Given the description of an element on the screen output the (x, y) to click on. 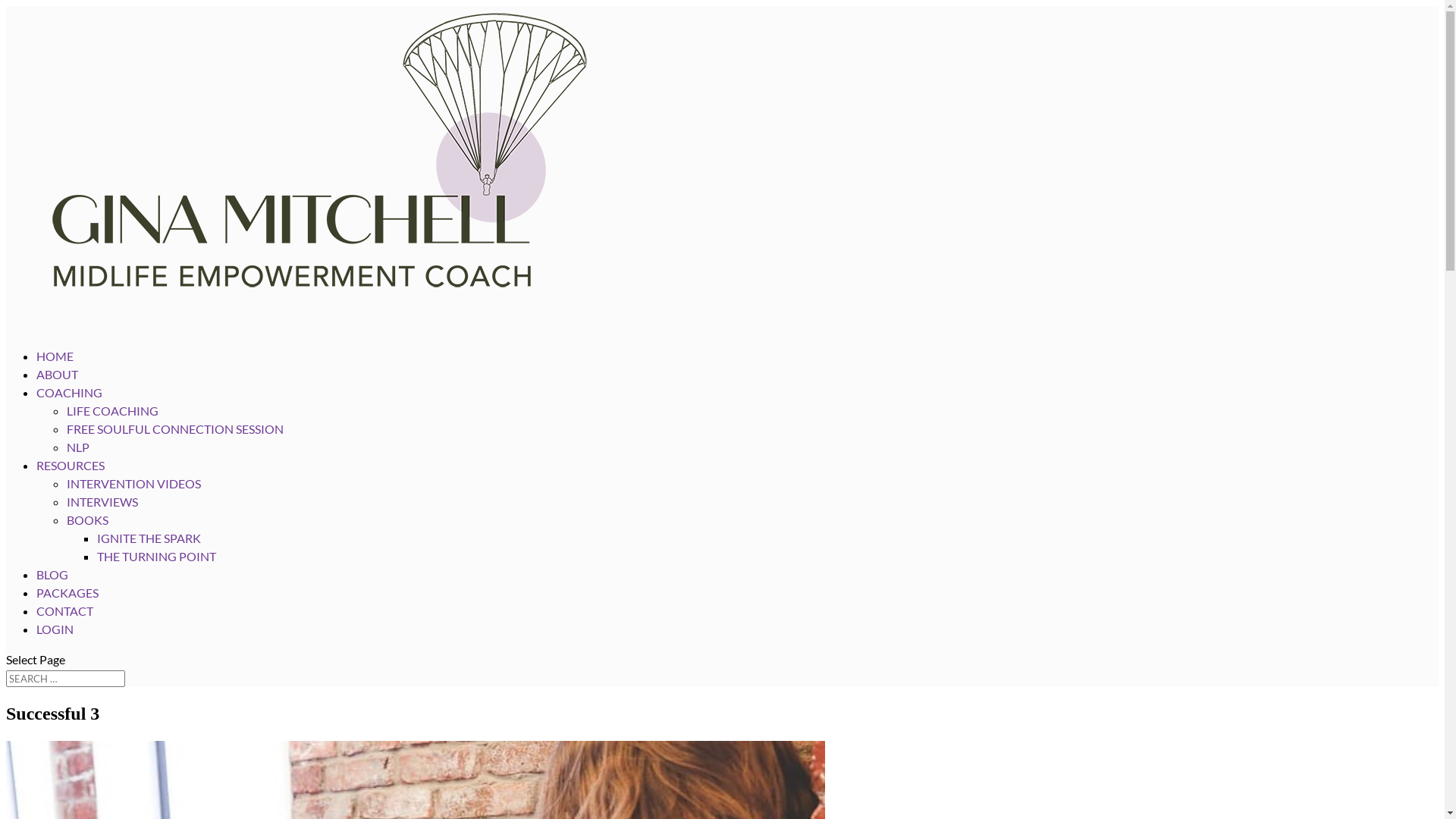
NLP Element type: text (77, 446)
CONTACT Element type: text (64, 627)
THE TURNING POINT Element type: text (156, 556)
Search for: Element type: hover (65, 678)
BLOG Element type: text (52, 591)
BOOKS Element type: text (87, 519)
HOME Element type: text (54, 372)
INTERVENTION VIDEOS Element type: text (133, 483)
LIFE COACHING Element type: text (112, 410)
ABOUT Element type: text (57, 391)
IGNITE THE SPARK Element type: text (148, 537)
PACKAGES Element type: text (67, 609)
FREE SOULFUL CONNECTION SESSION Element type: text (174, 428)
COACHING Element type: text (69, 409)
LOGIN Element type: text (54, 645)
INTERVIEWS Element type: text (102, 501)
RESOURCES Element type: text (70, 482)
